Given the description of an element on the screen output the (x, y) to click on. 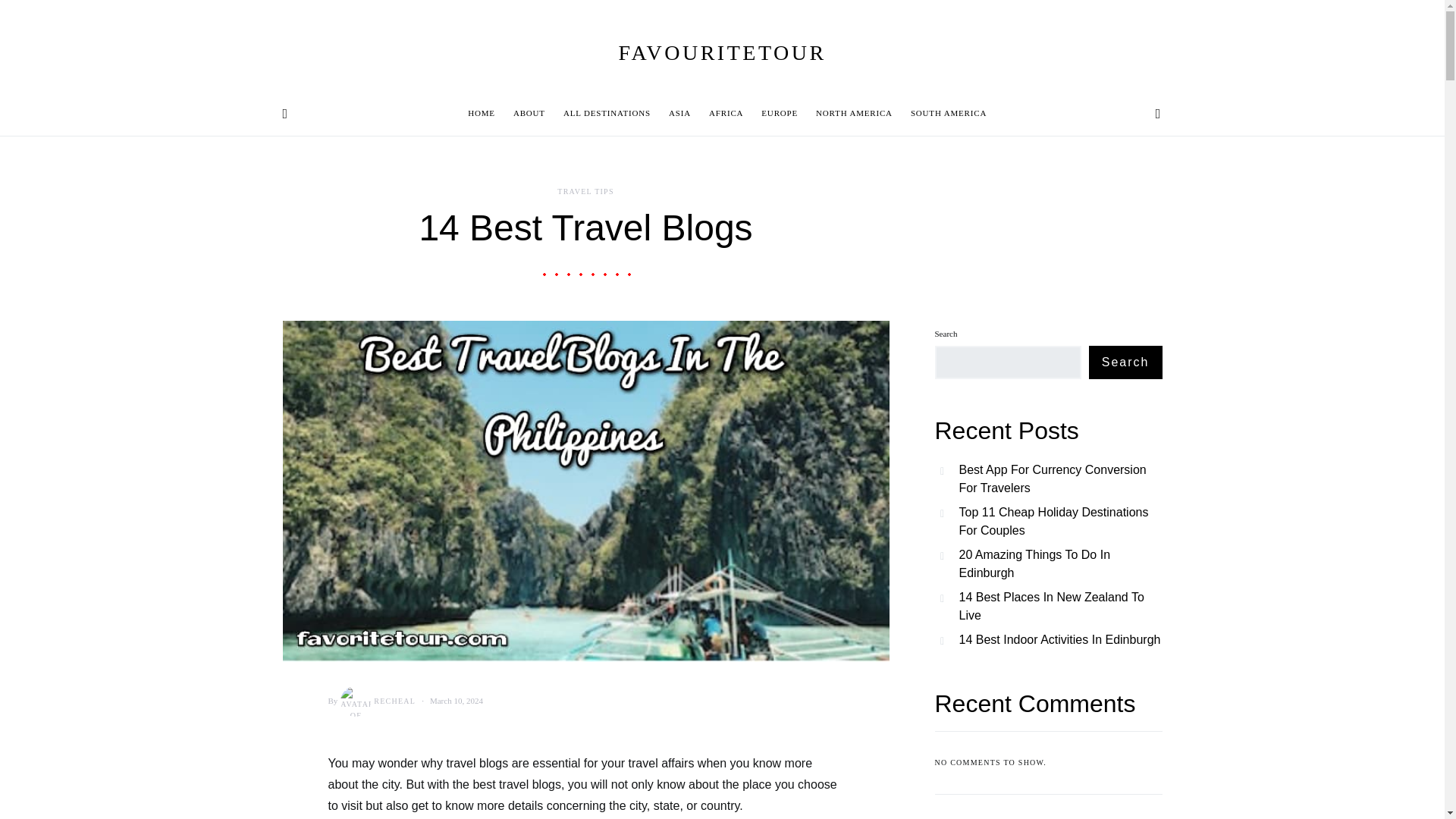
AFRICA (726, 113)
EUROPE (779, 113)
TRAVEL TIPS (584, 191)
SOUTH AMERICA (944, 113)
FAVOURITETOUR (721, 52)
View all posts by Recheal (375, 700)
ALL DESTINATIONS (606, 113)
ABOUT (528, 113)
NORTH AMERICA (853, 113)
